Given the description of an element on the screen output the (x, y) to click on. 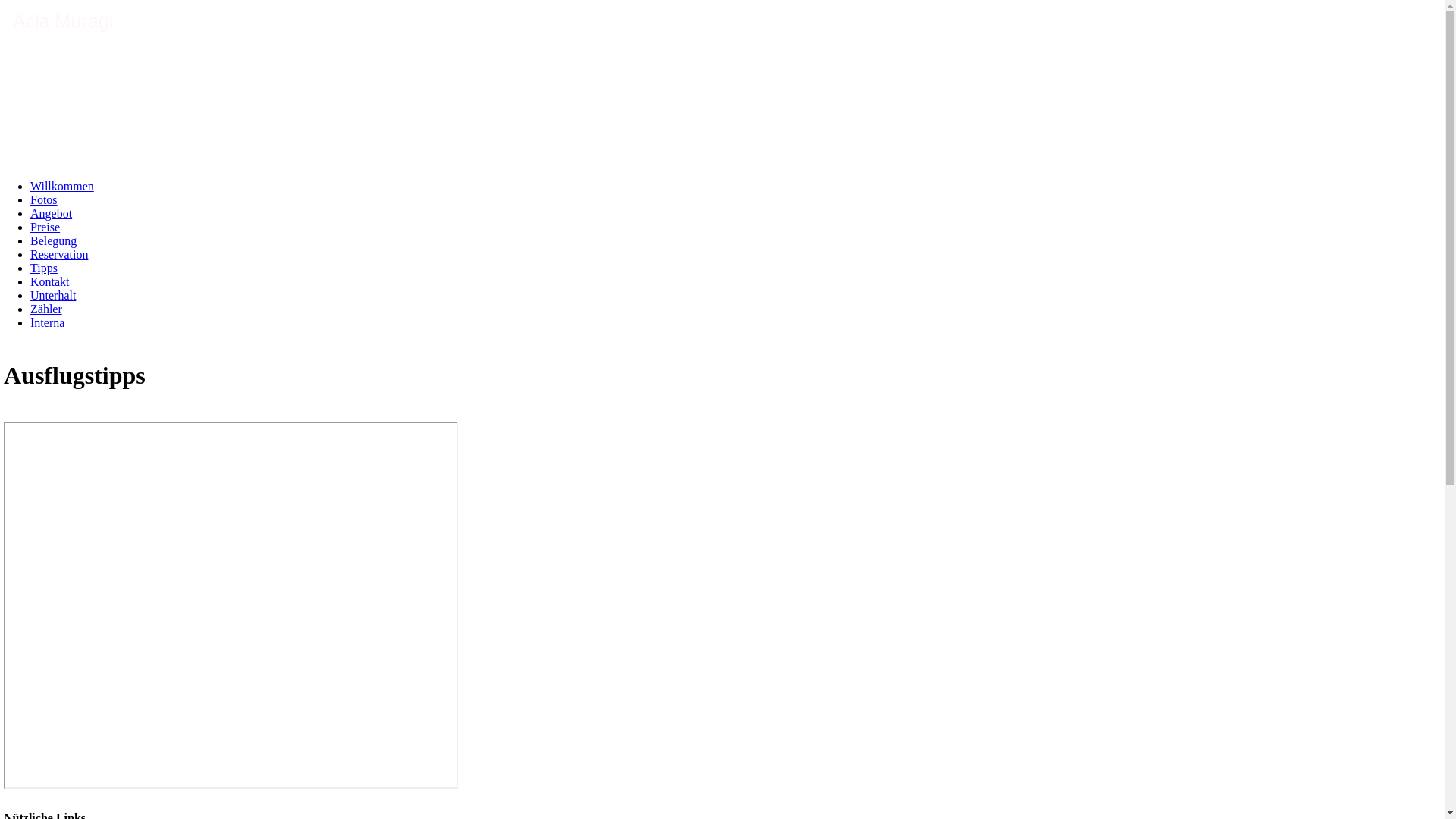
Preise Element type: text (44, 226)
Interna Element type: text (47, 322)
Willkommen Element type: text (62, 185)
Reservation Element type: text (58, 253)
Fotos Element type: text (43, 199)
Belegung Element type: text (53, 240)
Unterhalt Element type: text (52, 294)
Kontakt Element type: text (49, 281)
Tipps Element type: text (43, 267)
Angebot Element type: text (51, 213)
